Given the description of an element on the screen output the (x, y) to click on. 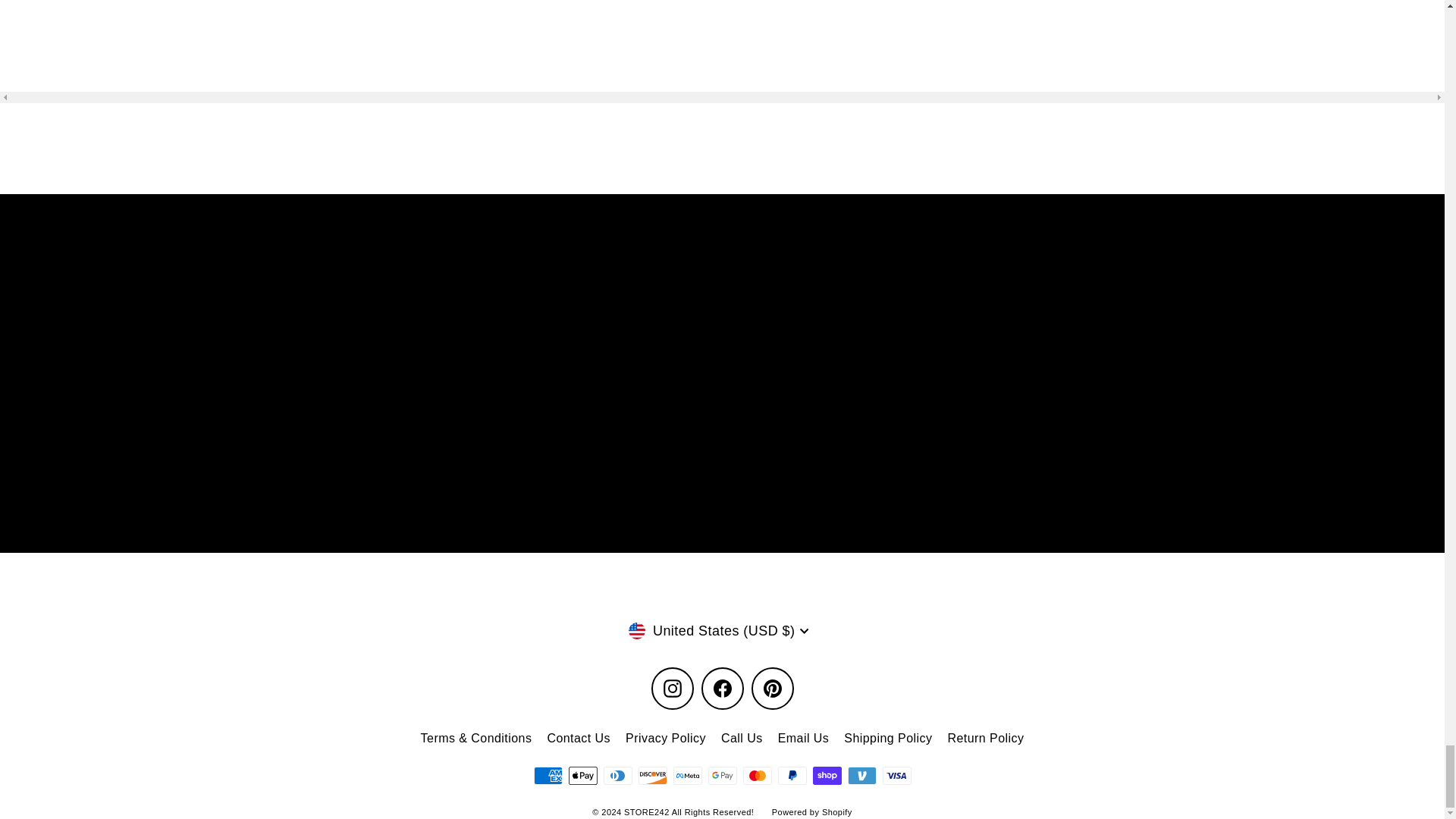
Venmo (861, 775)
Discover (652, 775)
Shop Pay (826, 775)
PayPal (791, 775)
Mastercard (756, 775)
Apple Pay (582, 775)
Google Pay (721, 775)
STORE242 on Facebook (721, 688)
Diners Club (617, 775)
STORE242 on Pinterest (772, 688)
